Given the description of an element on the screen output the (x, y) to click on. 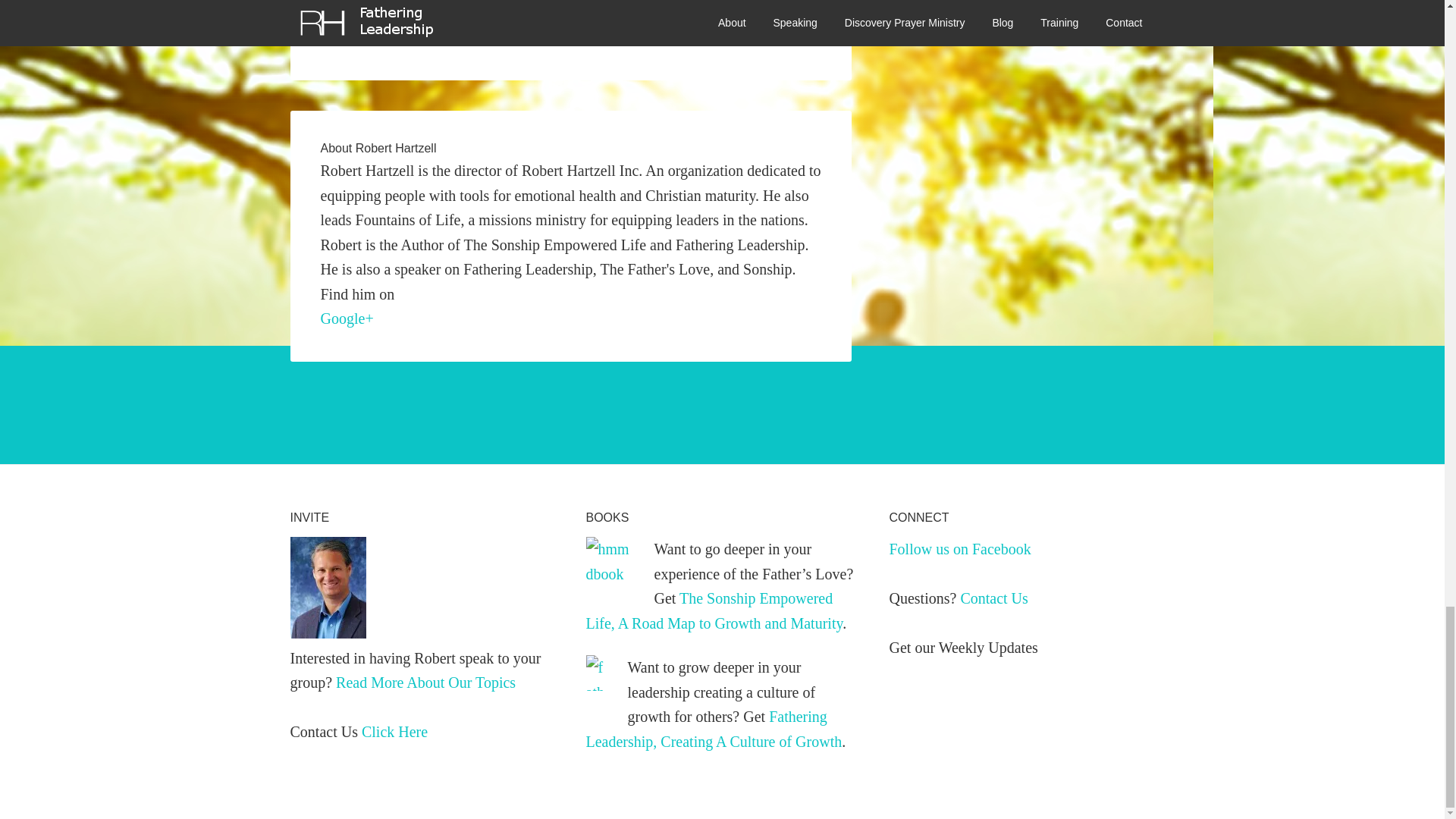
Follow us on Facebook (959, 548)
Fathering Leadership, Creating A Culture of Growth (713, 729)
Read More About Our Topics (425, 682)
Contact Us (993, 597)
Fathering Leadership, Creating A Culture of Growth (625, 32)
Click Here (394, 731)
